Given the description of an element on the screen output the (x, y) to click on. 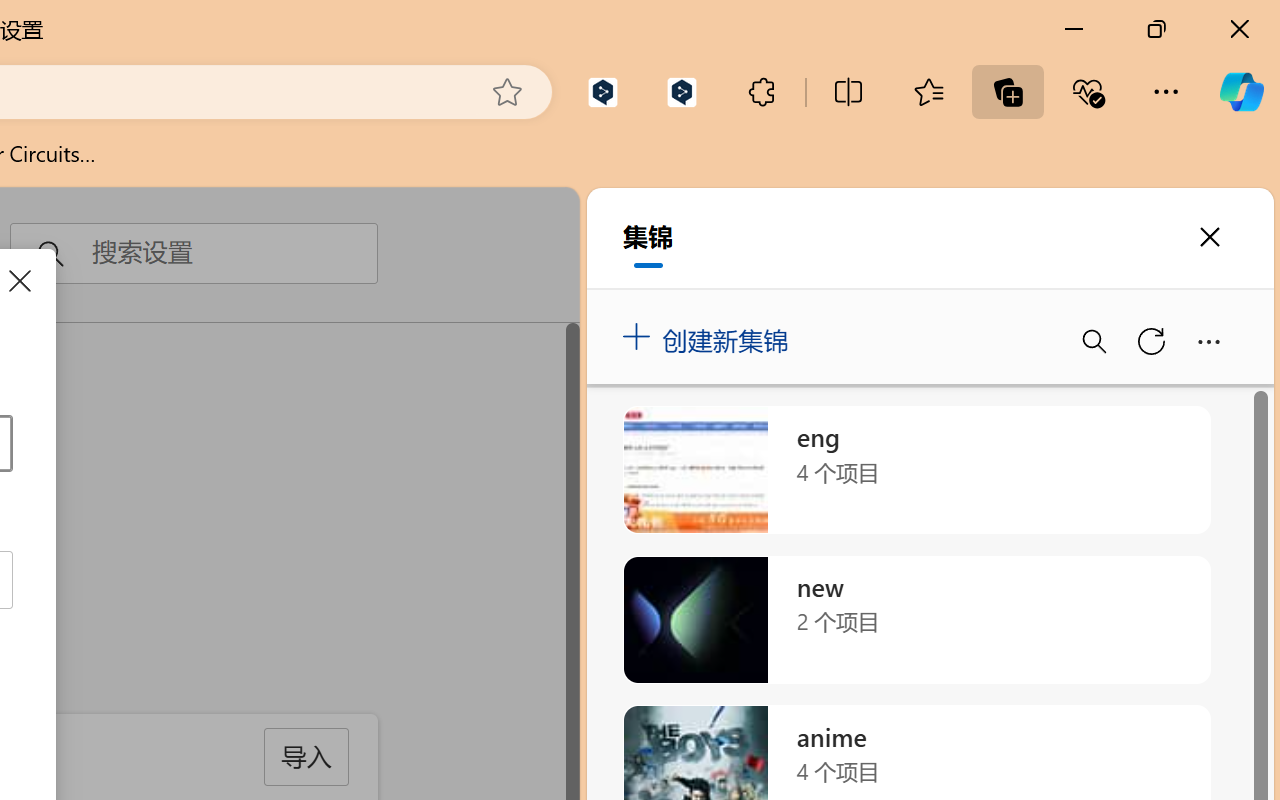
Copilot (Ctrl+Shift+.) (1241, 91)
